Given the description of an element on the screen output the (x, y) to click on. 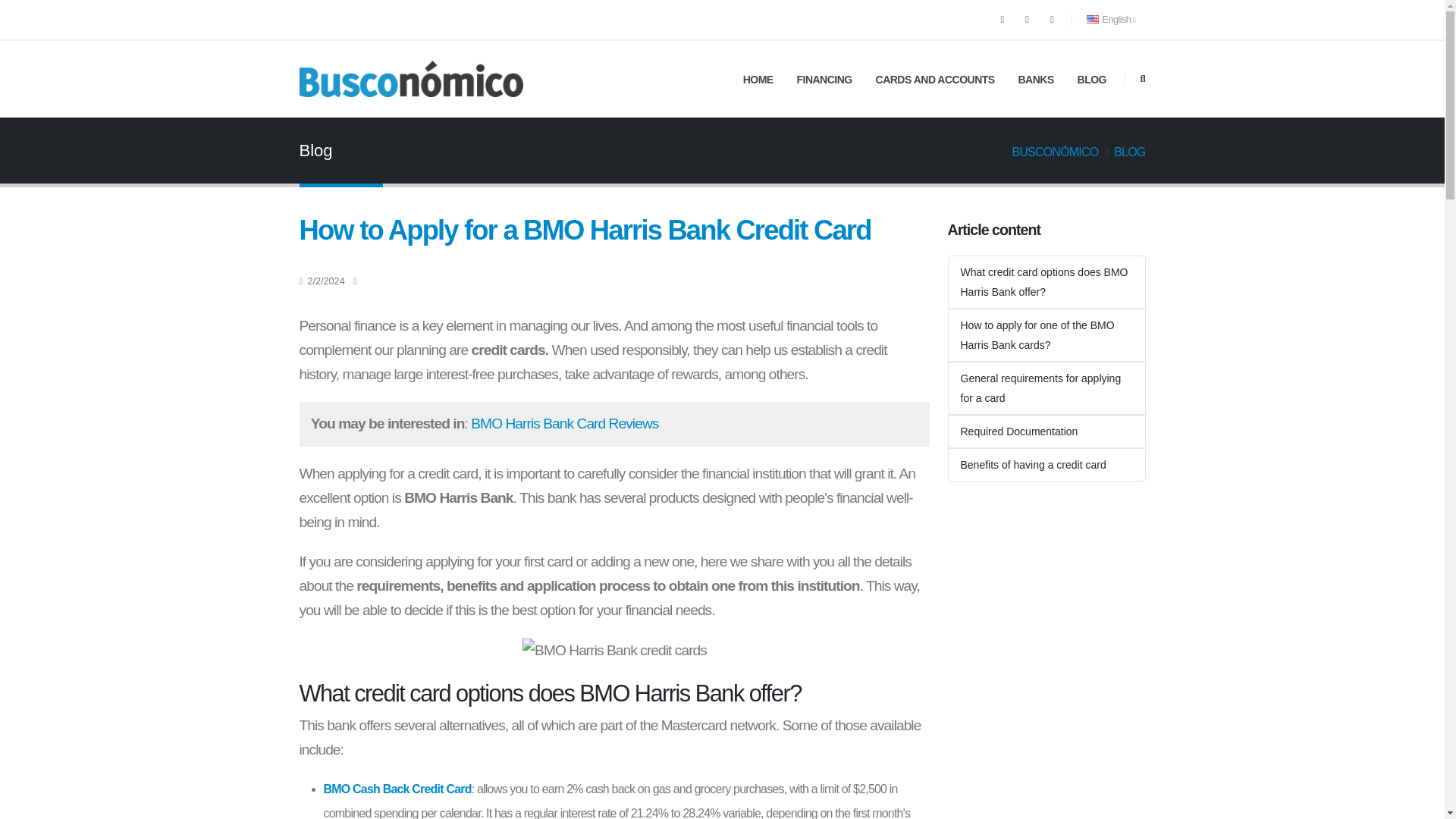
English (1111, 19)
Twitter (1027, 19)
FINANCING (824, 79)
Facebook (1002, 19)
CARDS AND ACCOUNTS (935, 79)
Linkedin (1052, 19)
